Given the description of an element on the screen output the (x, y) to click on. 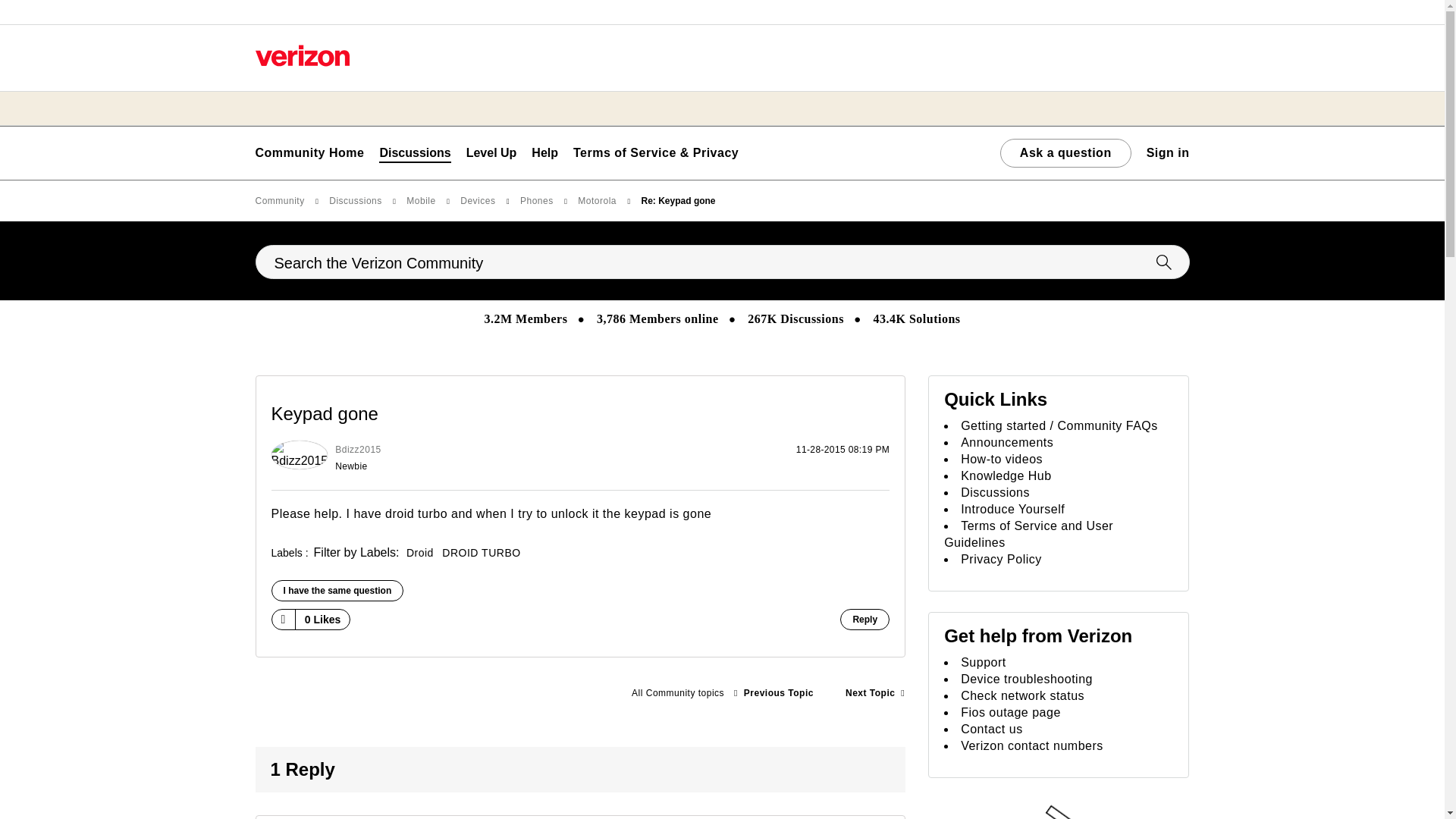
When will the DROID Turbo receive the marshmallow updgrade? (773, 693)
Search (721, 261)
Motorola (677, 693)
Posted on (676, 457)
Bdizz2015 (299, 454)
Click here to give likes to this post. (282, 619)
Verizon Home Page (301, 55)
The total number of likes this post has received. (322, 619)
Click here if you had a similar experience (337, 590)
